Given the description of an element on the screen output the (x, y) to click on. 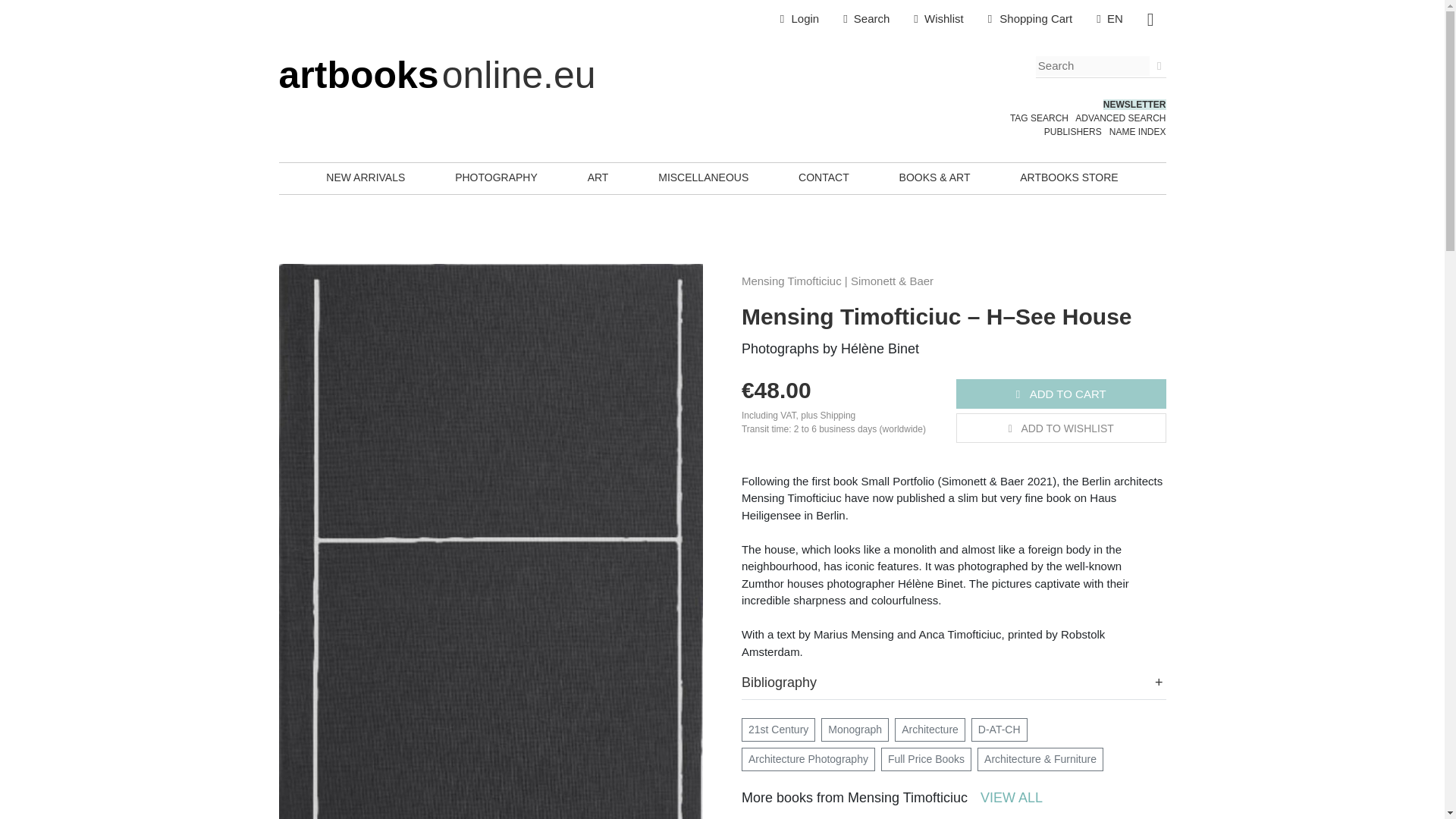
TAG SEARCH (1039, 118)
Login (799, 19)
Search (866, 19)
Shopping Cart (1029, 19)
NEW ARRIVALS (365, 177)
Wishlist (938, 19)
PUBLISHERS (1072, 131)
NEWSLETTER (1134, 104)
PHOTOGRAPHY (496, 177)
NAME INDEX (1137, 131)
